Given the description of an element on the screen output the (x, y) to click on. 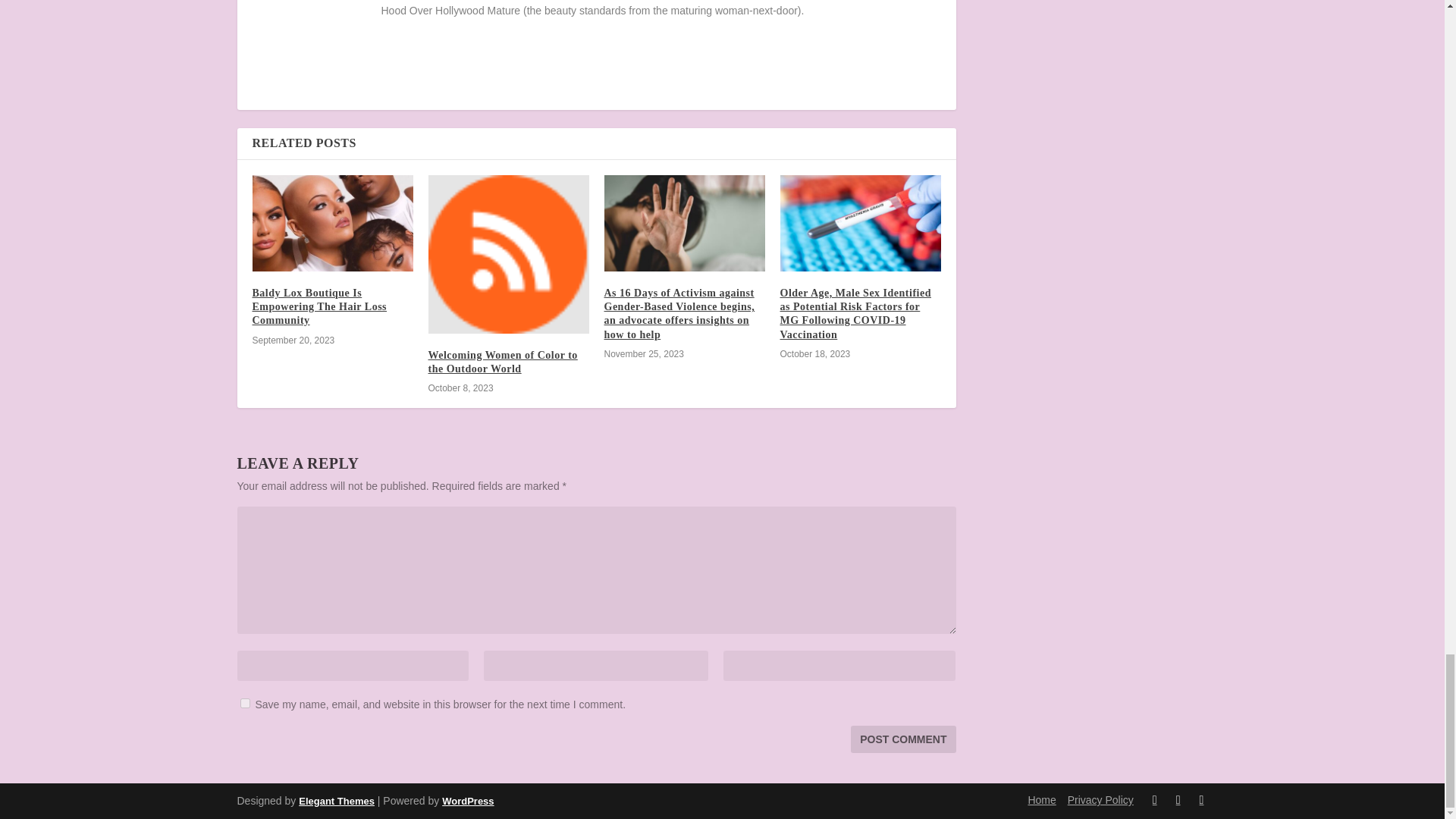
Post Comment (902, 738)
yes (244, 703)
